Given the description of an element on the screen output the (x, y) to click on. 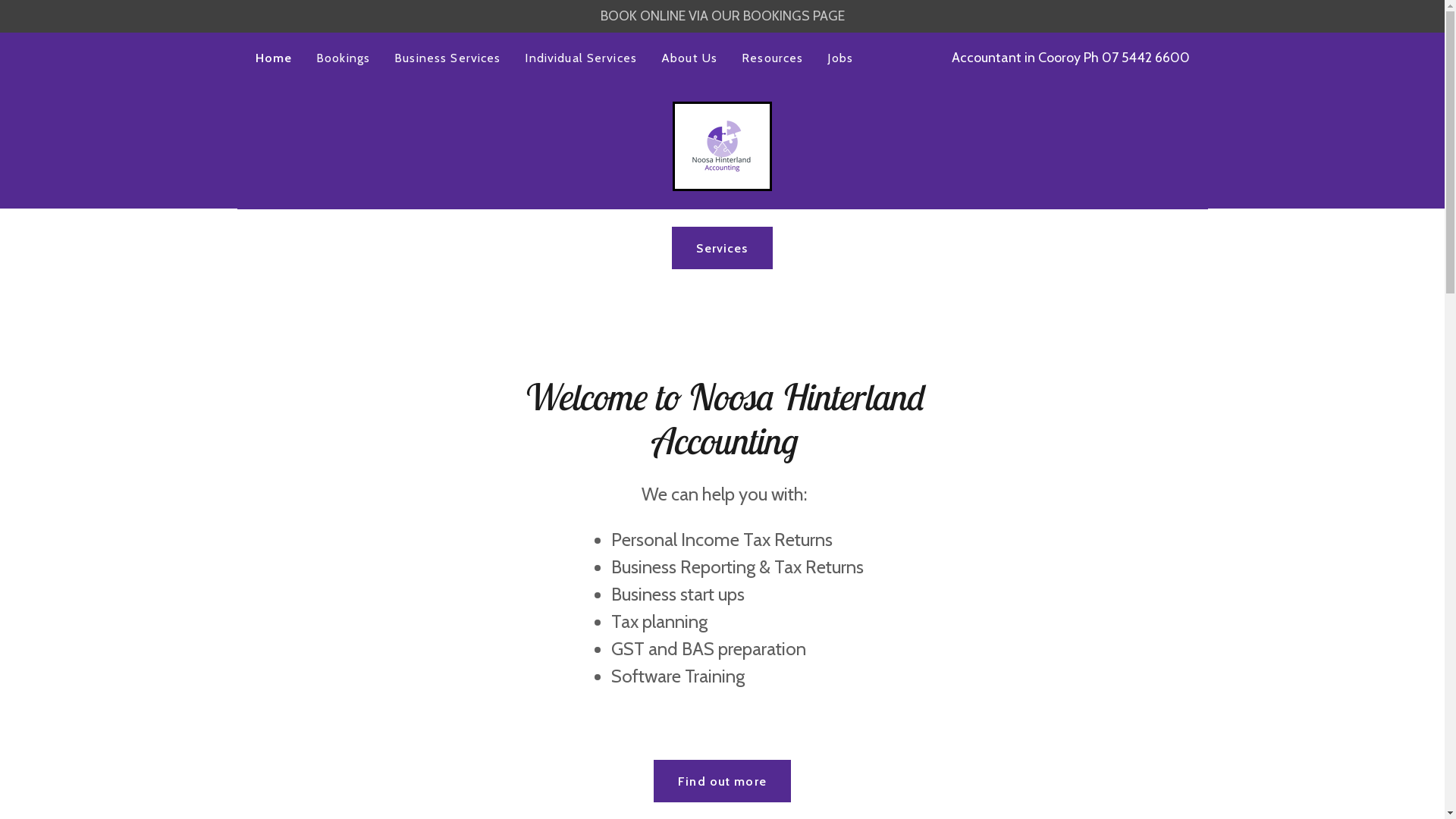
Individual Services Element type: text (580, 57)
BOOK ONLINE VIA OUR BOOKINGS PAGE Element type: text (722, 16)
Resources Element type: text (772, 57)
Business Services Element type: text (447, 57)
Services Element type: text (721, 247)
Find out more Element type: text (721, 780)
07 5442 6600 Element type: text (1145, 57)
Jobs Element type: text (839, 57)
About Us Element type: text (688, 57)
Noosa Hinterland Accounting Element type: hover (722, 144)
Bookings Element type: text (342, 57)
Home Element type: text (272, 57)
